Given the description of an element on the screen output the (x, y) to click on. 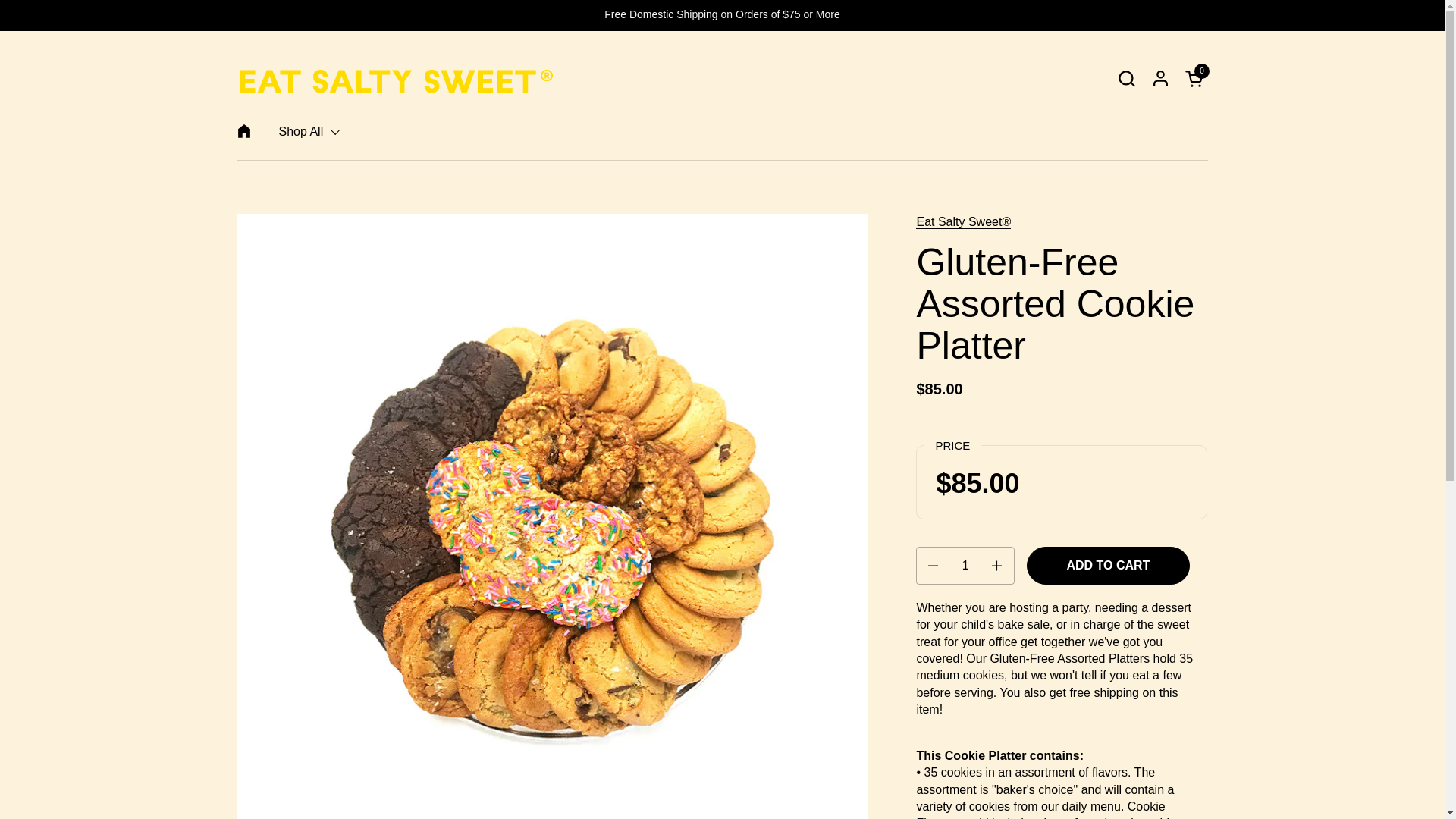
Open cart (1196, 77)
Shop All (309, 131)
Open search (1125, 77)
ADD TO CART (1196, 77)
